Given the description of an element on the screen output the (x, y) to click on. 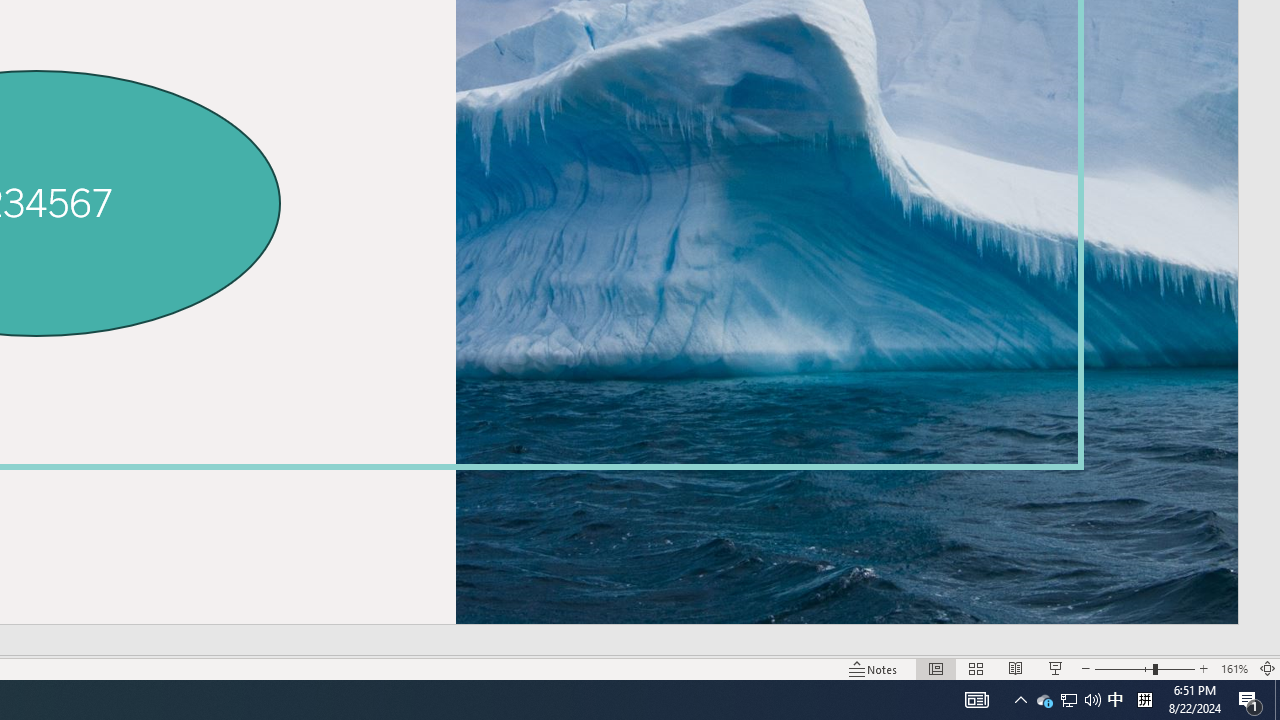
Zoom 161% (1234, 668)
